Given the description of an element on the screen output the (x, y) to click on. 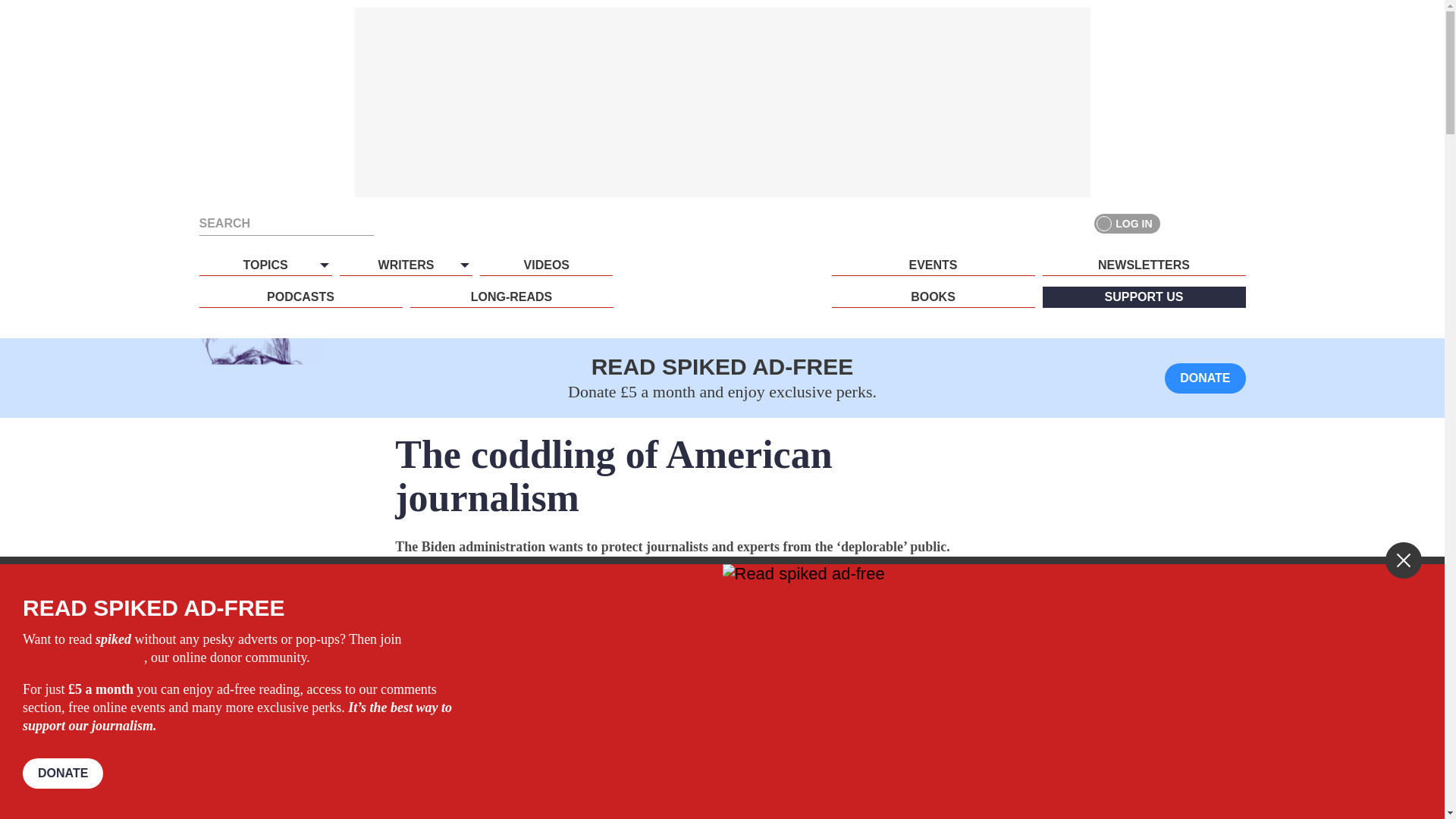
VIDEOS (546, 265)
EVENTS (932, 265)
Facebook (1180, 223)
SUPPORT US (1143, 296)
YouTube (1234, 223)
NEWSLETTERS (1143, 265)
BOOKS (932, 296)
spiked - humanity is underrated (722, 293)
LOG IN (1126, 223)
WRITERS (405, 265)
